Given the description of an element on the screen output the (x, y) to click on. 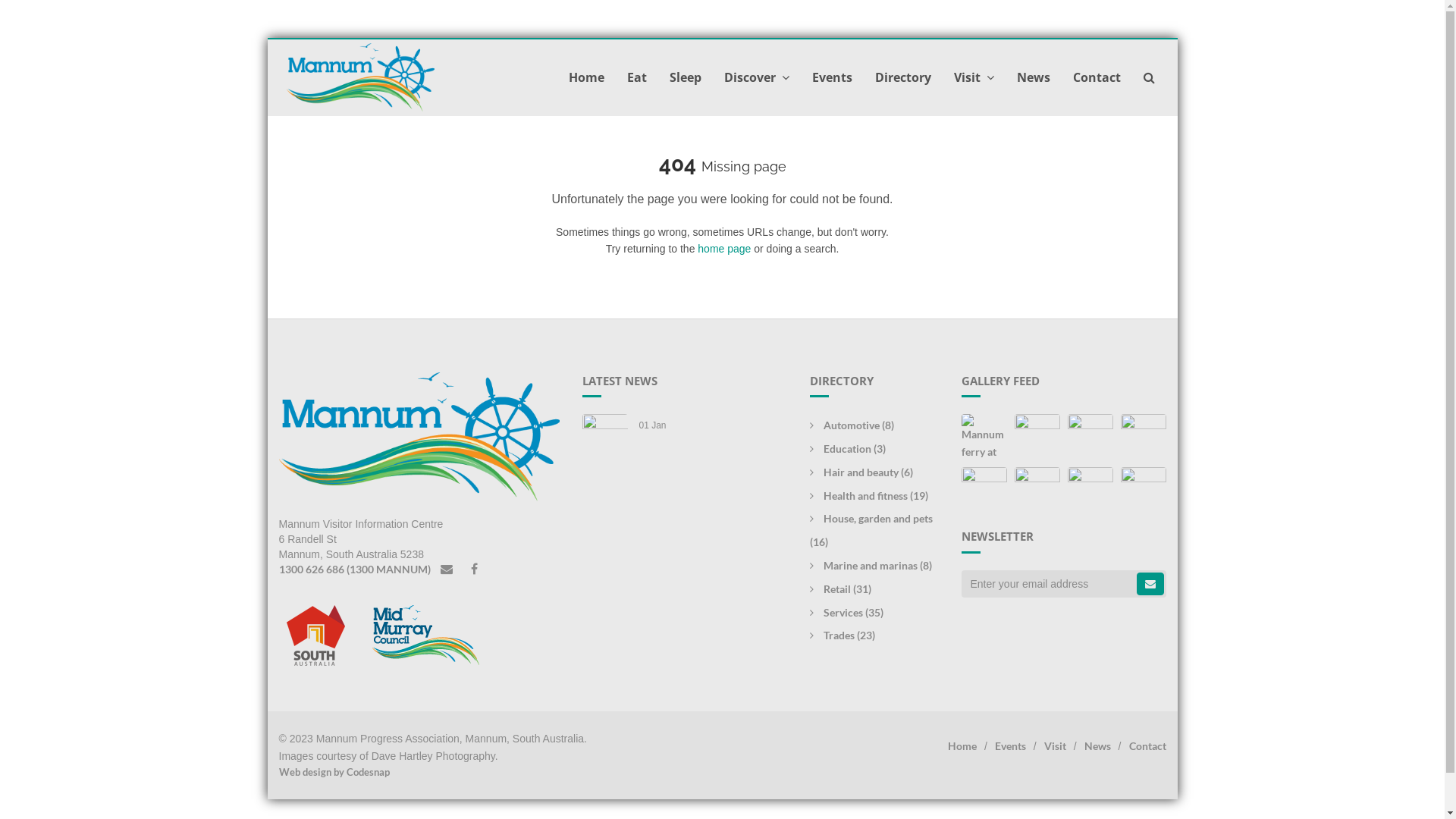
Mid Murray Council Element type: hover (417, 633)
Discover Element type: text (756, 77)
Home Element type: text (961, 745)
Hair and beauty (6) Element type: text (861, 471)
Events Element type: text (831, 77)
Marine and marinas (8) Element type: text (870, 564)
Retail (31) Element type: text (840, 588)
Find us on Facebook Element type: hover (473, 568)
Eat Element type: text (636, 77)
News Element type: text (1097, 745)
Directory Element type: text (901, 77)
Contact Element type: text (1146, 745)
Contact Element type: text (1096, 77)
Join Now! Element type: hover (1149, 583)
Home Element type: text (591, 77)
Web design by Codesnap Element type: text (495, 772)
Events Element type: text (1010, 745)
Trades (23) Element type: text (842, 634)
Email us Element type: hover (446, 568)
Visit Mannum Element type: hover (360, 77)
Health and fitness (19) Element type: text (868, 495)
Education (3) Element type: text (847, 448)
Visit Element type: text (972, 77)
Visit Element type: text (1055, 745)
Services (35) Element type: text (846, 611)
home page Element type: text (723, 248)
Sleep Element type: text (685, 77)
News Element type: text (1033, 77)
Automotive (8) Element type: text (851, 424)
House, garden and pets (16) Element type: text (870, 529)
